Given the description of an element on the screen output the (x, y) to click on. 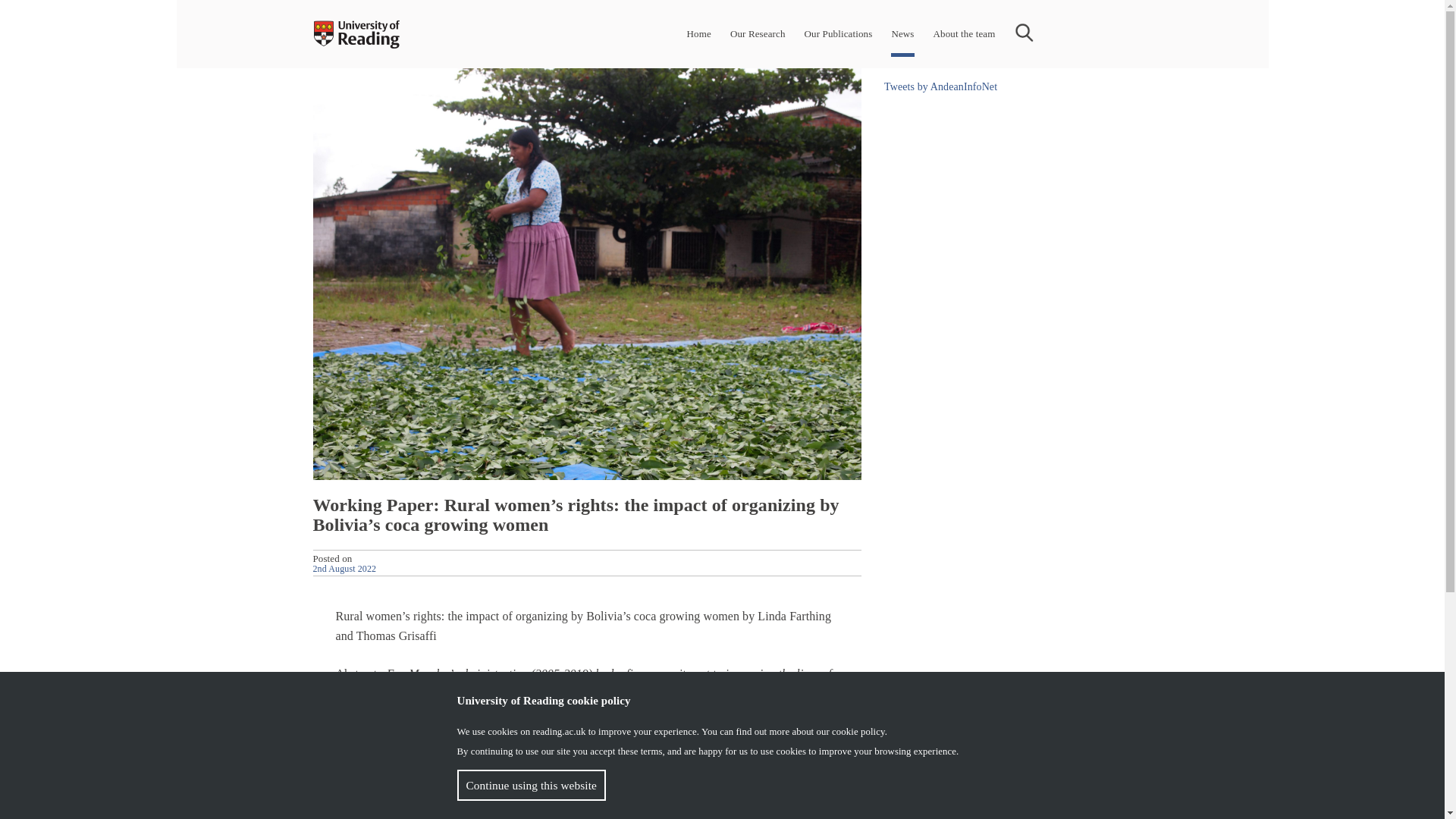
About the team (964, 33)
cookie policy (858, 731)
Our Publications (838, 33)
Tweets by AndeanInfoNet (940, 86)
Continue using this website (531, 784)
2nd August 2022 (344, 567)
